Given the description of an element on the screen output the (x, y) to click on. 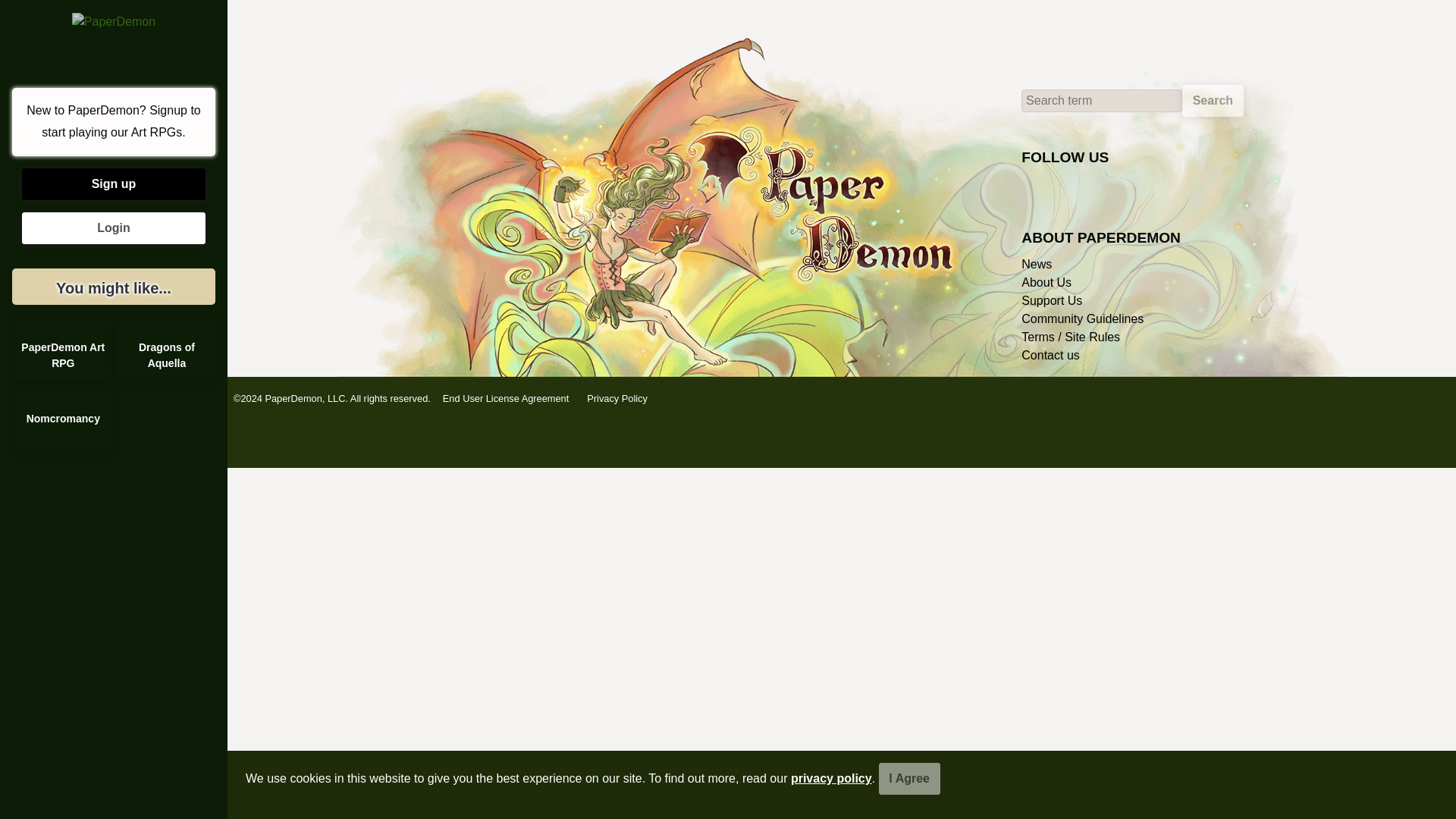
About Us (1046, 282)
Nomcromancy (63, 420)
Search (1212, 101)
Facebook (1168, 199)
Instagram (1233, 199)
End User License Agreement (505, 398)
Email Newsletter (1038, 199)
Privacy Policy (616, 398)
News (1036, 264)
Twitter (1201, 199)
